Given the description of an element on the screen output the (x, y) to click on. 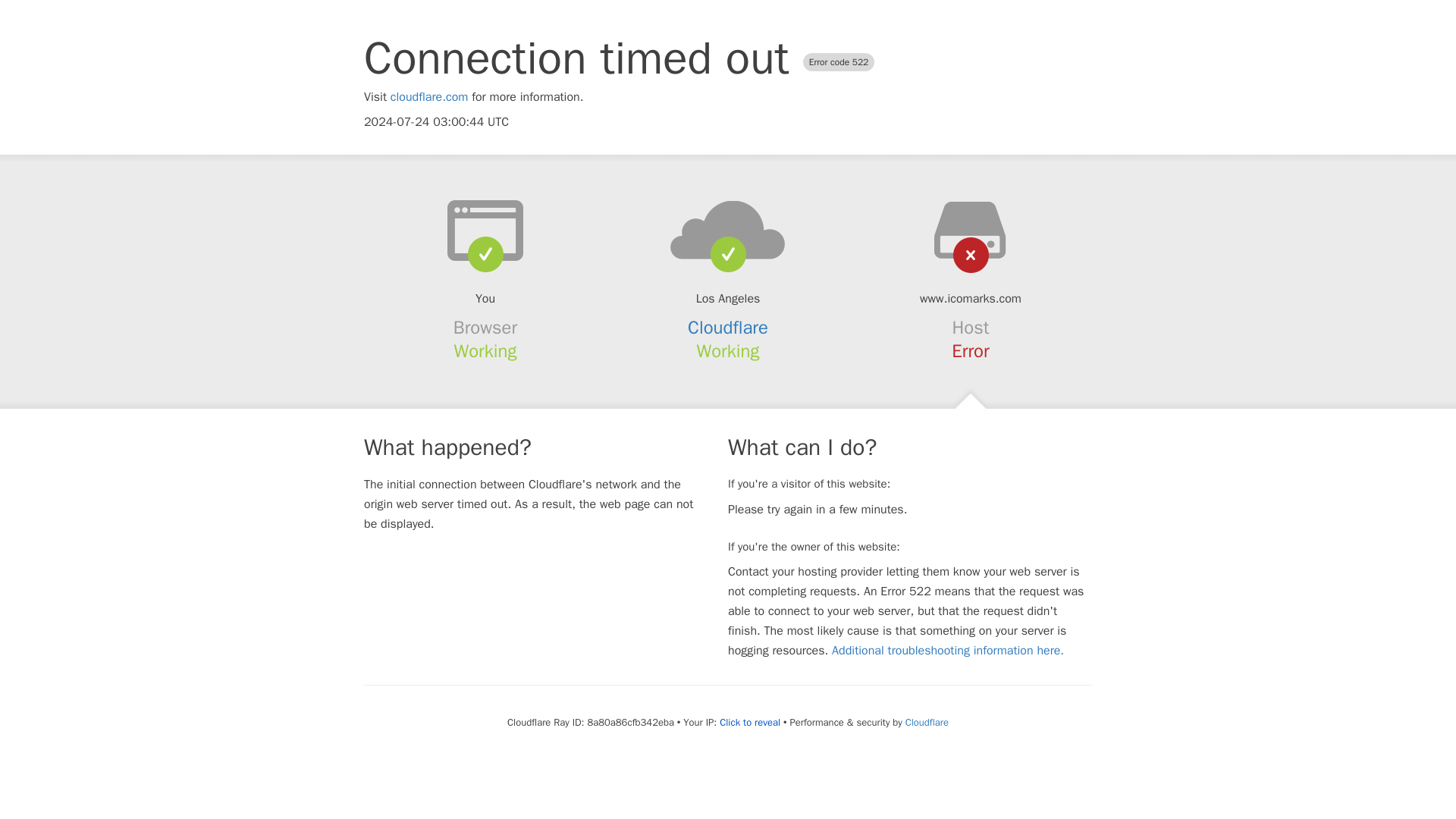
Click to reveal (749, 722)
cloudflare.com (429, 96)
Cloudflare (927, 721)
Additional troubleshooting information here. (947, 650)
Cloudflare (727, 327)
